Given the description of an element on the screen output the (x, y) to click on. 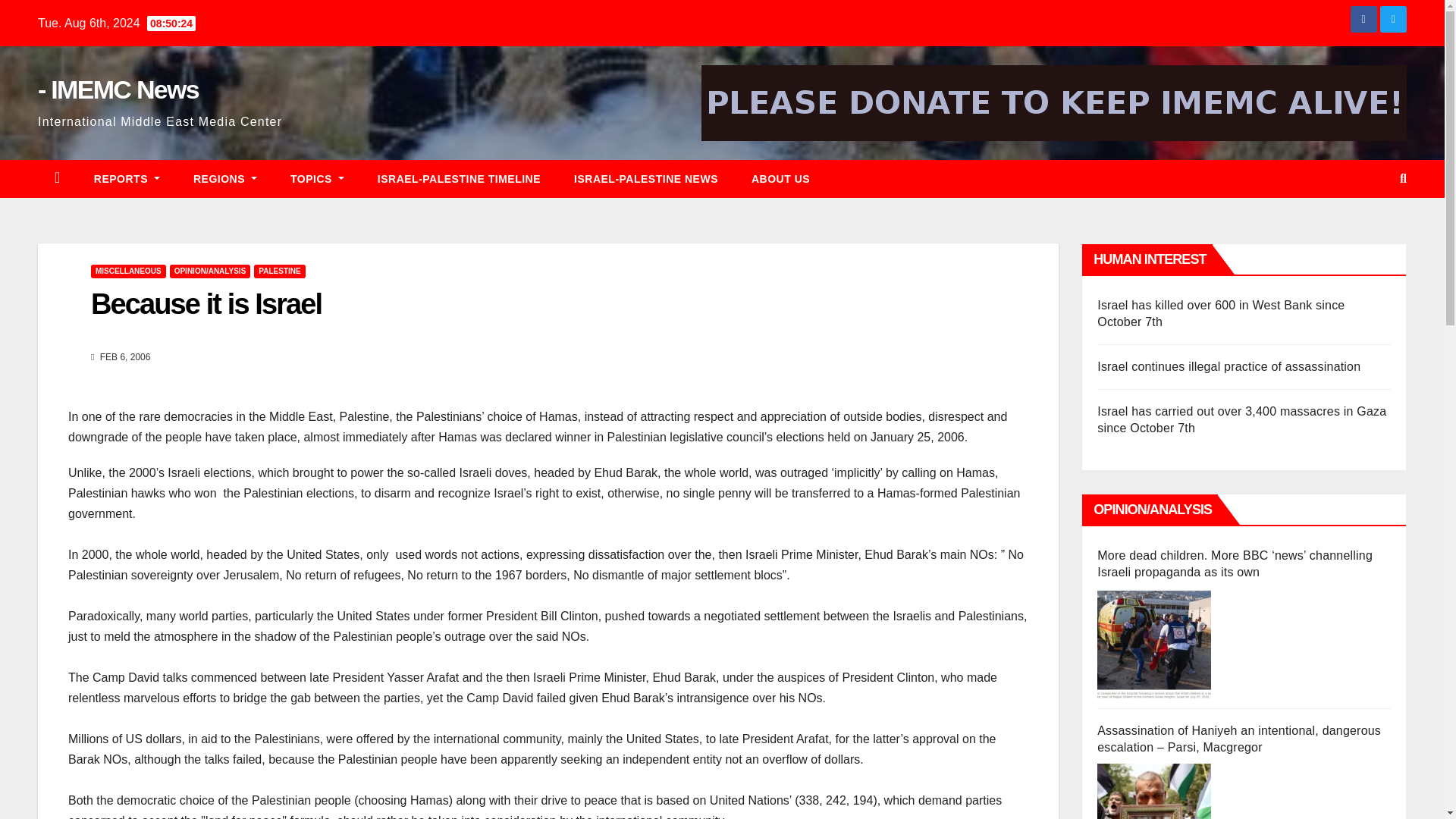
Reports (126, 178)
REPORTS (126, 178)
- IMEMC News (117, 89)
TOPICS (317, 178)
REGIONS (224, 178)
Regions (224, 178)
